Given the description of an element on the screen output the (x, y) to click on. 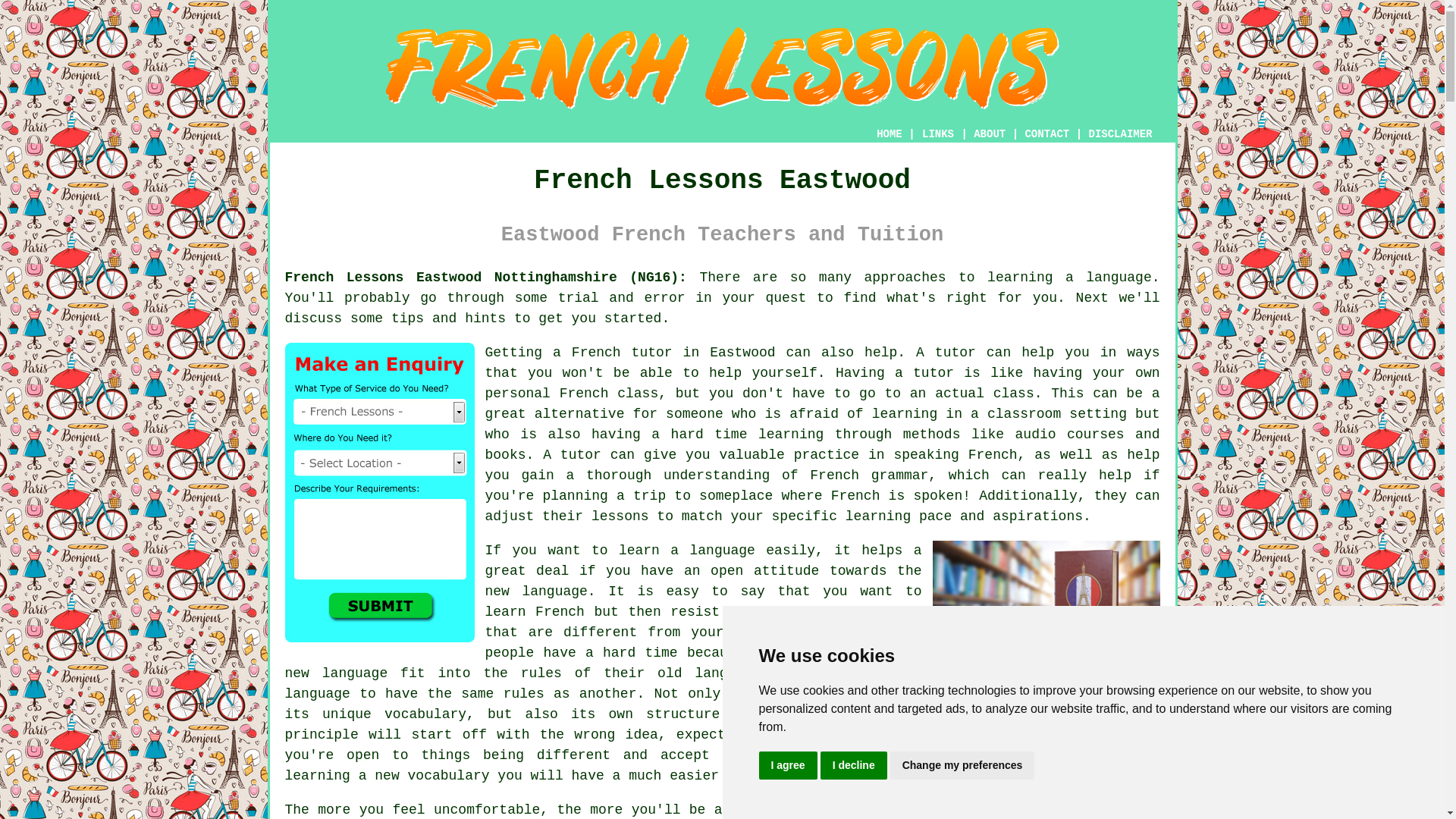
I decline (853, 765)
I agree (787, 765)
HOME (889, 133)
Change my preferences (962, 765)
LINKS (938, 133)
French Lessons Eastwood (721, 68)
tutor (954, 352)
